Given the description of an element on the screen output the (x, y) to click on. 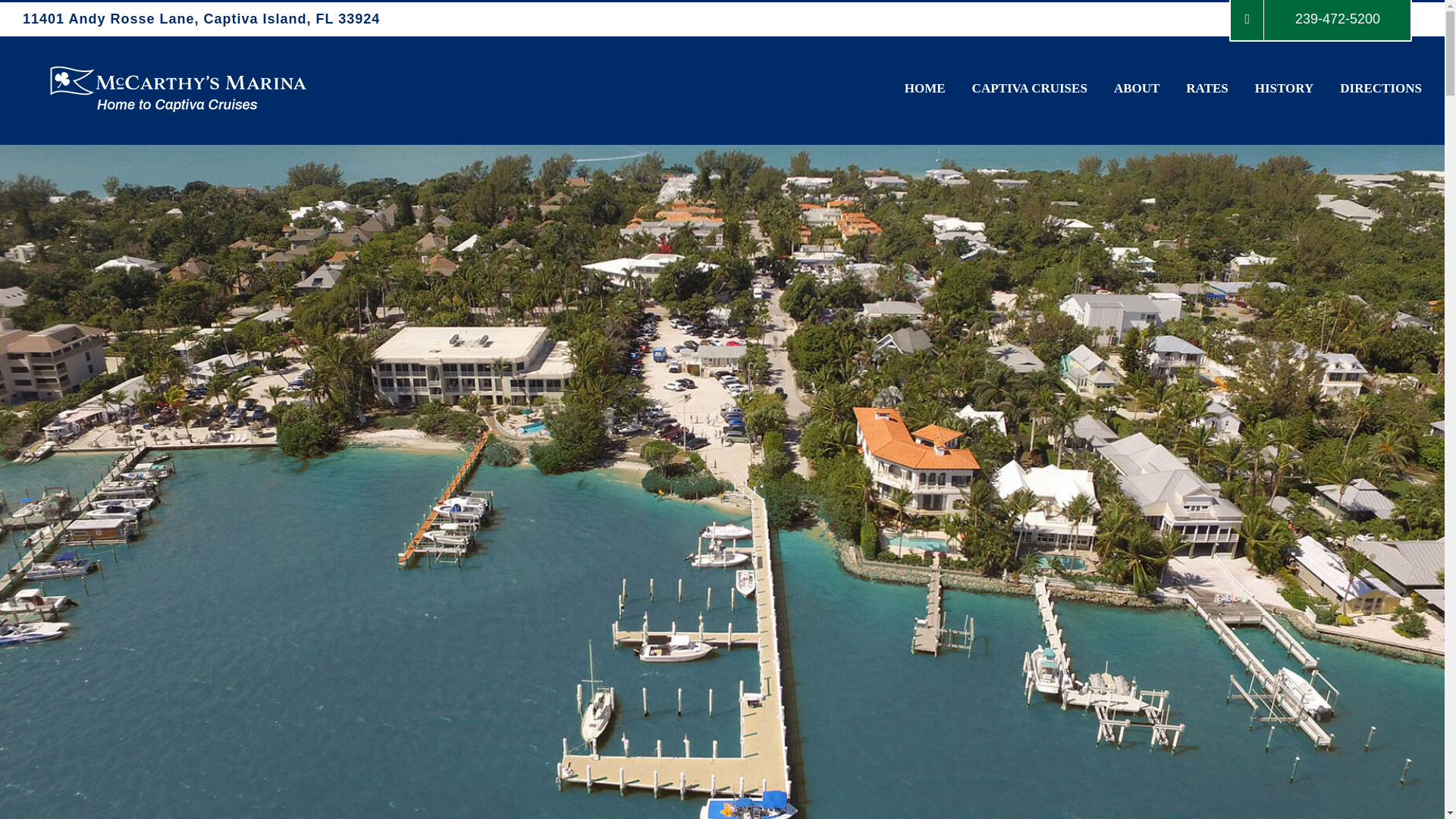
CAPTIVA CRUISES (1029, 86)
239-472-5200 (1321, 19)
DIRECTIONS (1380, 86)
HISTORY (1284, 86)
